Given the description of an element on the screen output the (x, y) to click on. 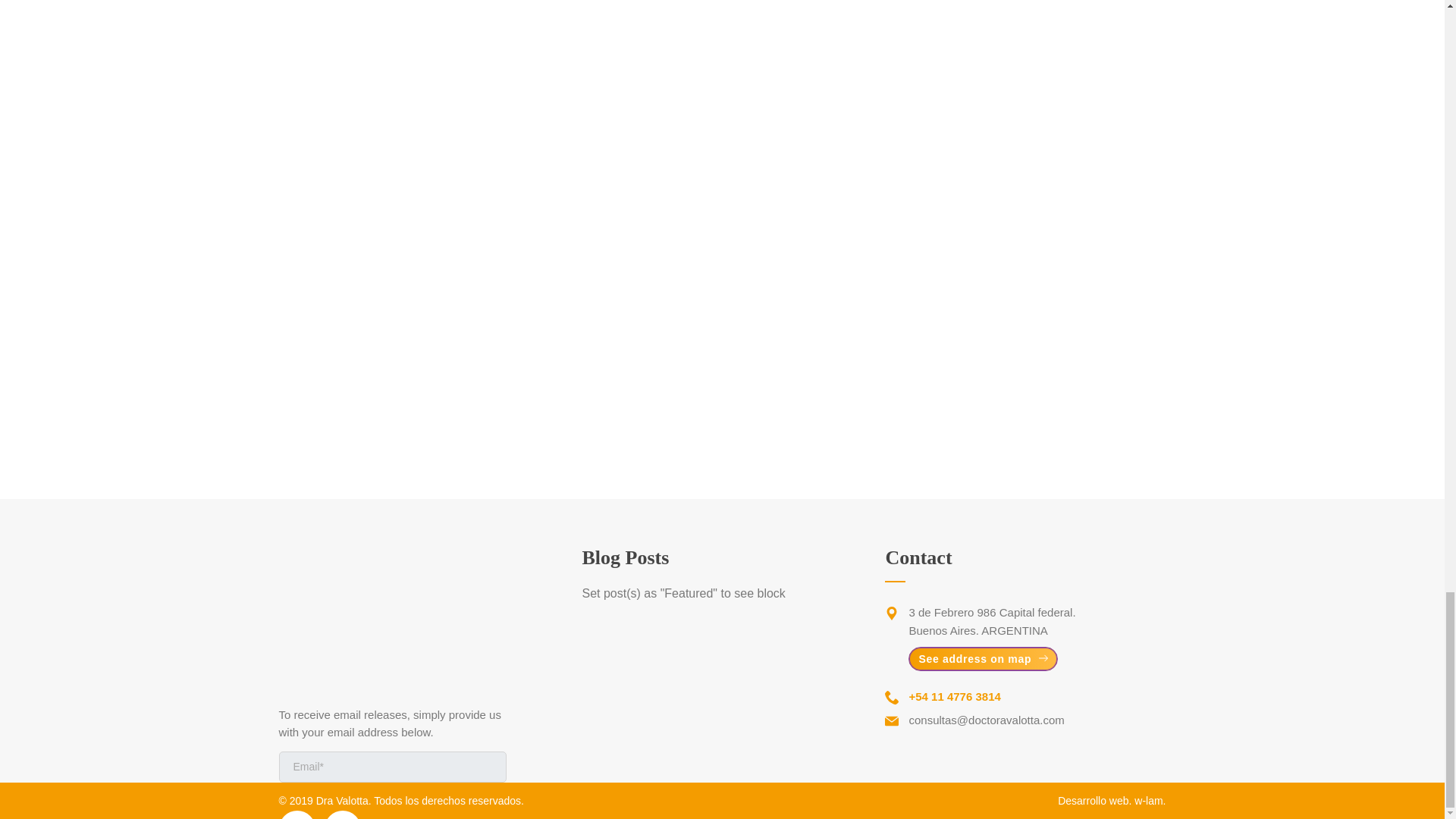
See address on map (983, 658)
Send (486, 766)
Send (486, 766)
